Given the description of an element on the screen output the (x, y) to click on. 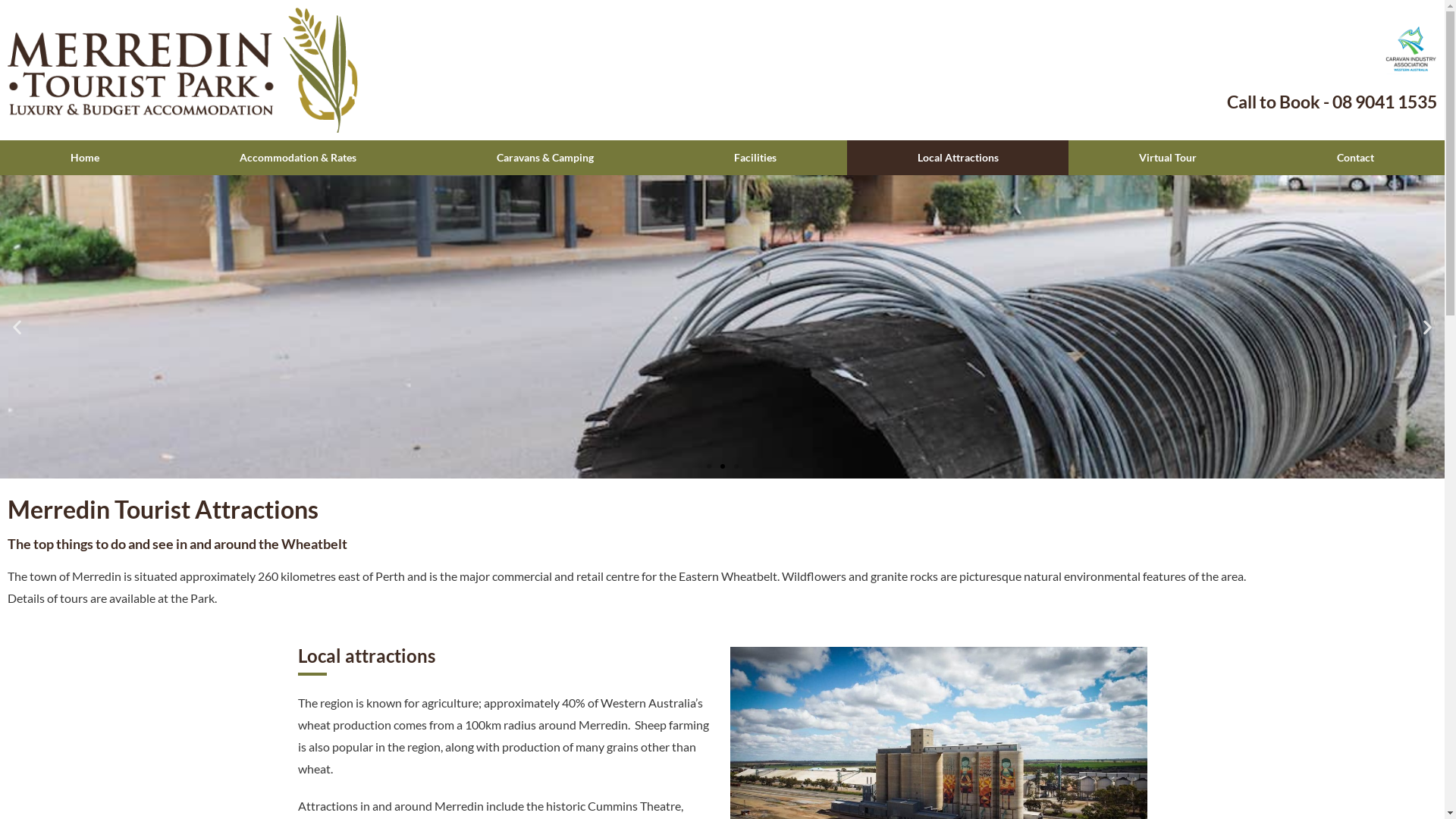
Local Attractions Element type: text (957, 157)
Home Element type: text (84, 157)
Caravans & Camping Element type: text (545, 157)
Facilities Element type: text (755, 157)
Contact Element type: text (1355, 157)
Accommodation & Rates Element type: text (297, 157)
Virtual Tour Element type: text (1167, 157)
Call to Book - 08 9041 1535 Element type: text (1331, 101)
